Given the description of an element on the screen output the (x, y) to click on. 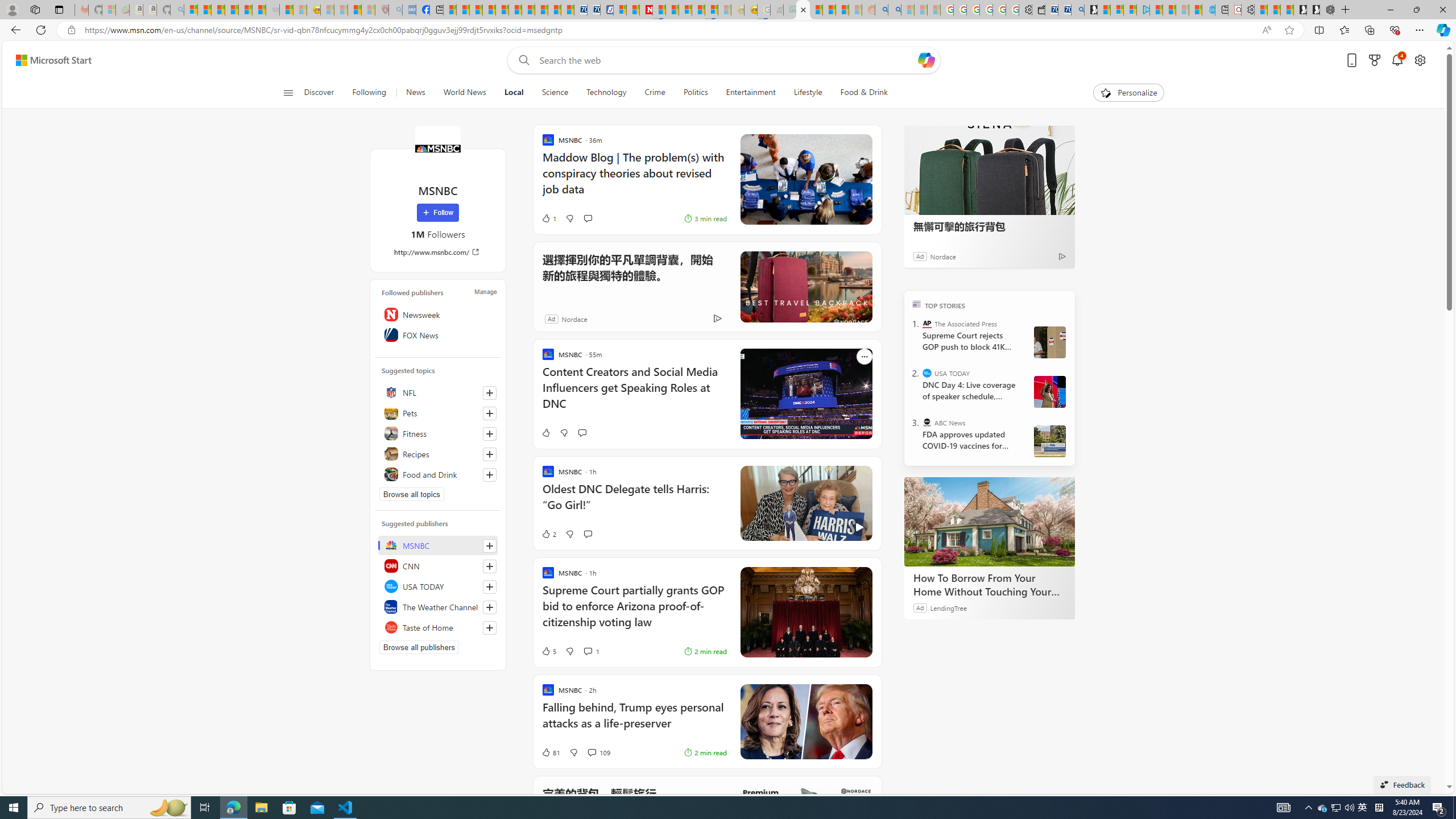
1 Like (547, 218)
http://www.msnbc.com/ (438, 251)
